Given the description of an element on the screen output the (x, y) to click on. 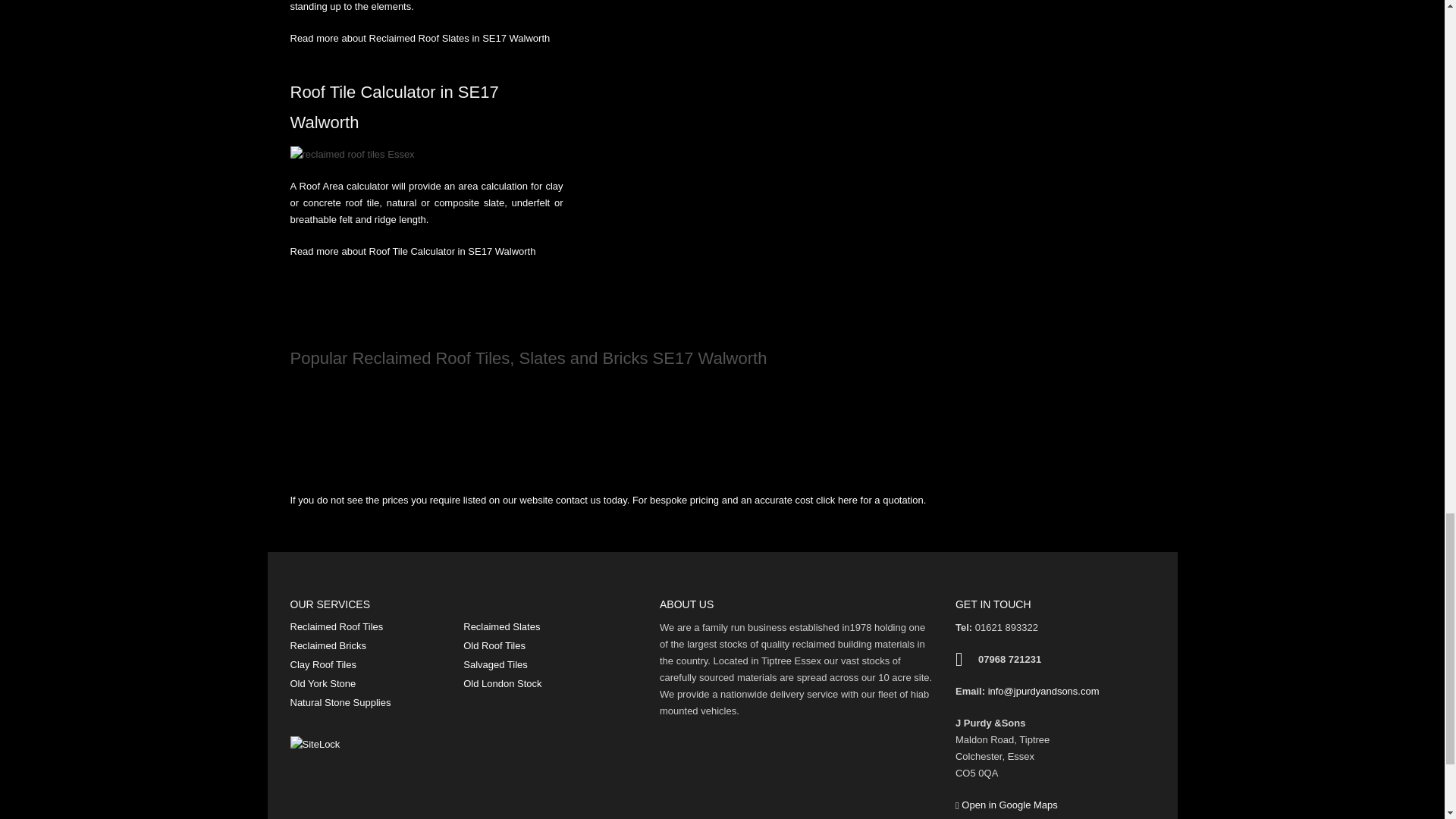
Read more about Roof Tile Calculator in SE17 Walworth (412, 251)
Read more about Reclaimed Roof Slates in SE17 Walworth (419, 38)
